Given the description of an element on the screen output the (x, y) to click on. 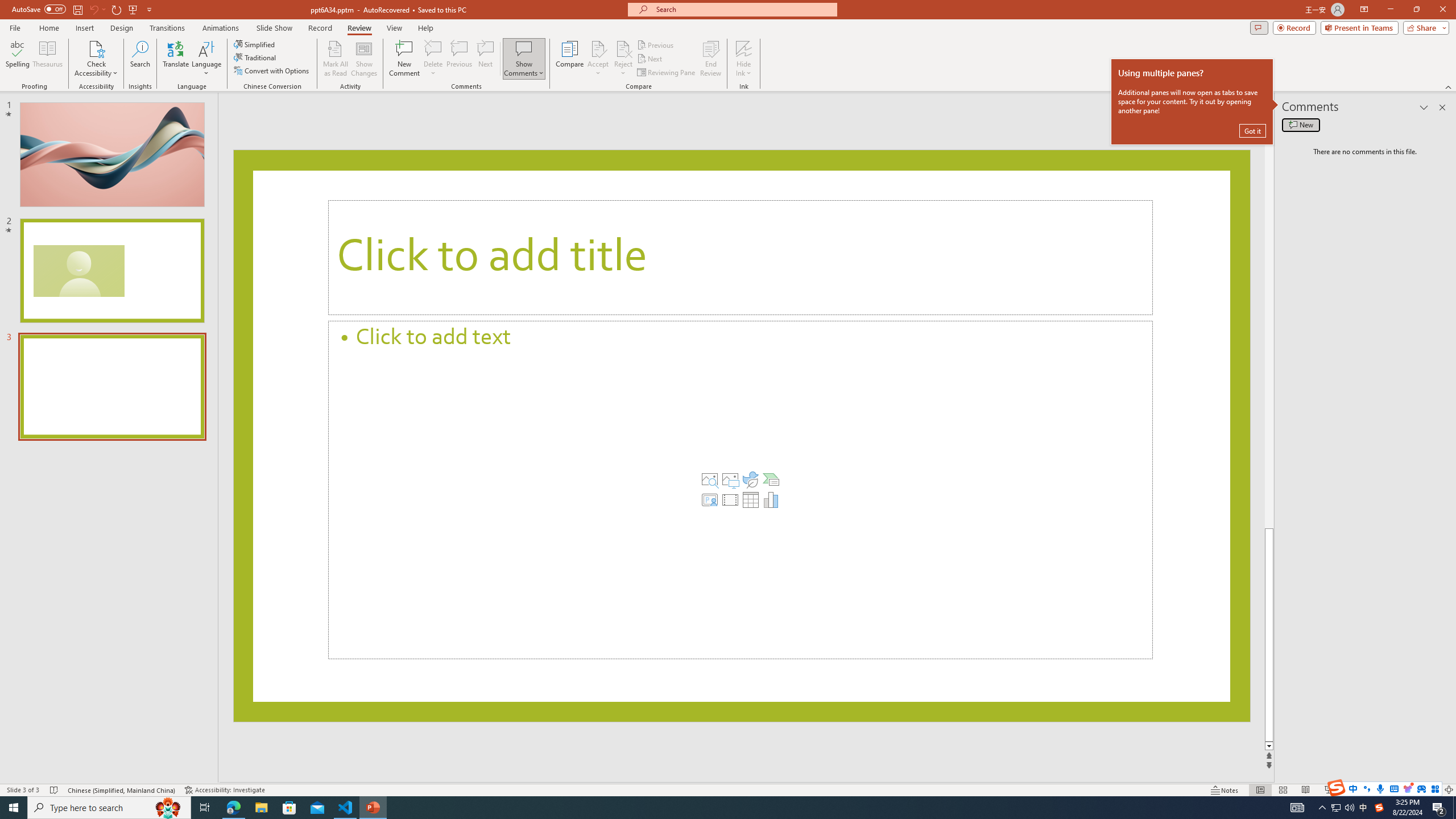
Compare (569, 58)
Simplified (254, 44)
New Comment (403, 58)
